Given the description of an element on the screen output the (x, y) to click on. 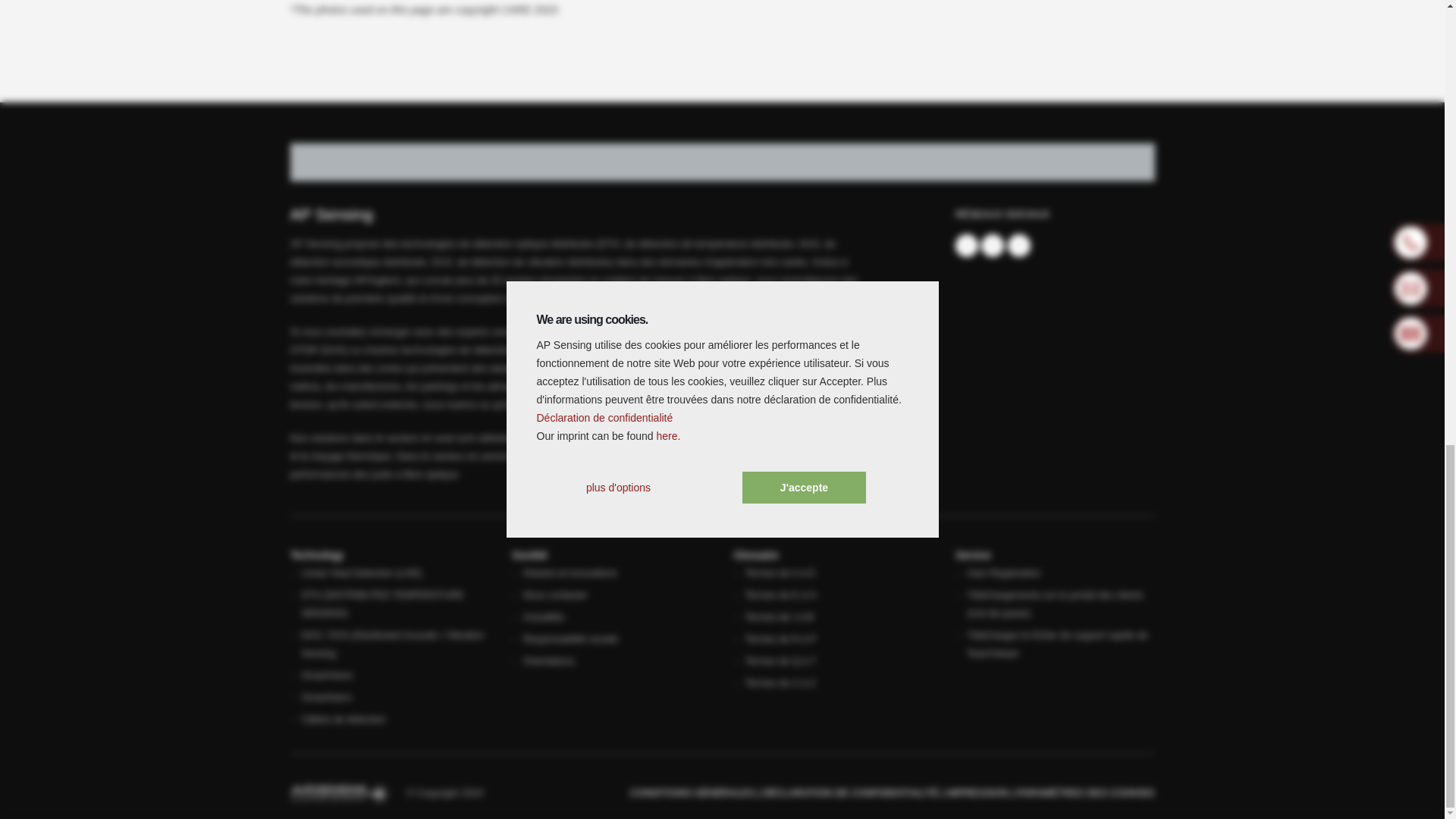
Facebook (966, 245)
Linked In (992, 245)
